Given the description of an element on the screen output the (x, y) to click on. 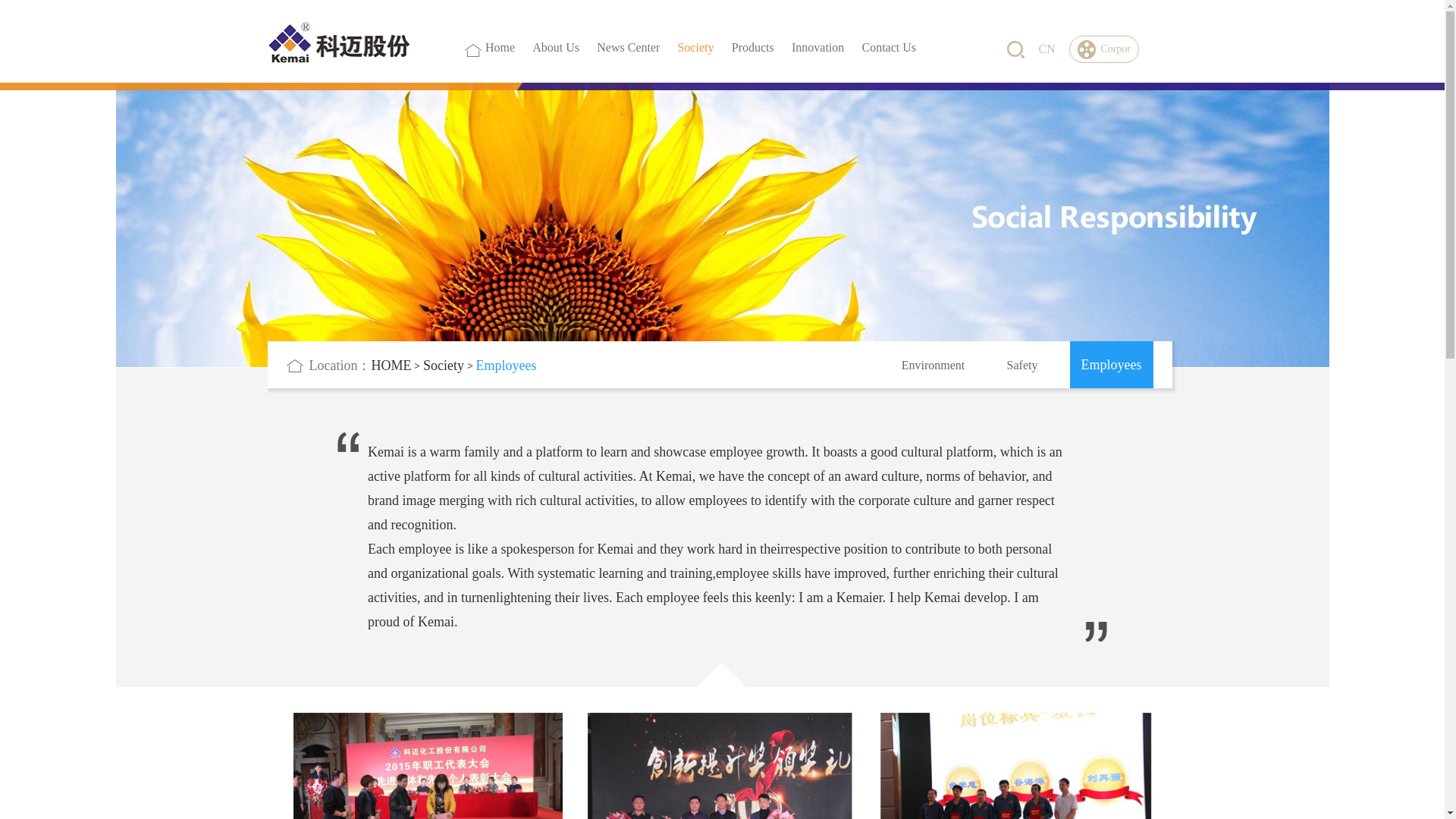
Environment (933, 365)
Employees (1110, 364)
HOME (395, 365)
Society (448, 365)
Safety (1021, 365)
1521510078353666.jpg (721, 753)
News Center (627, 74)
